Given the description of an element on the screen output the (x, y) to click on. 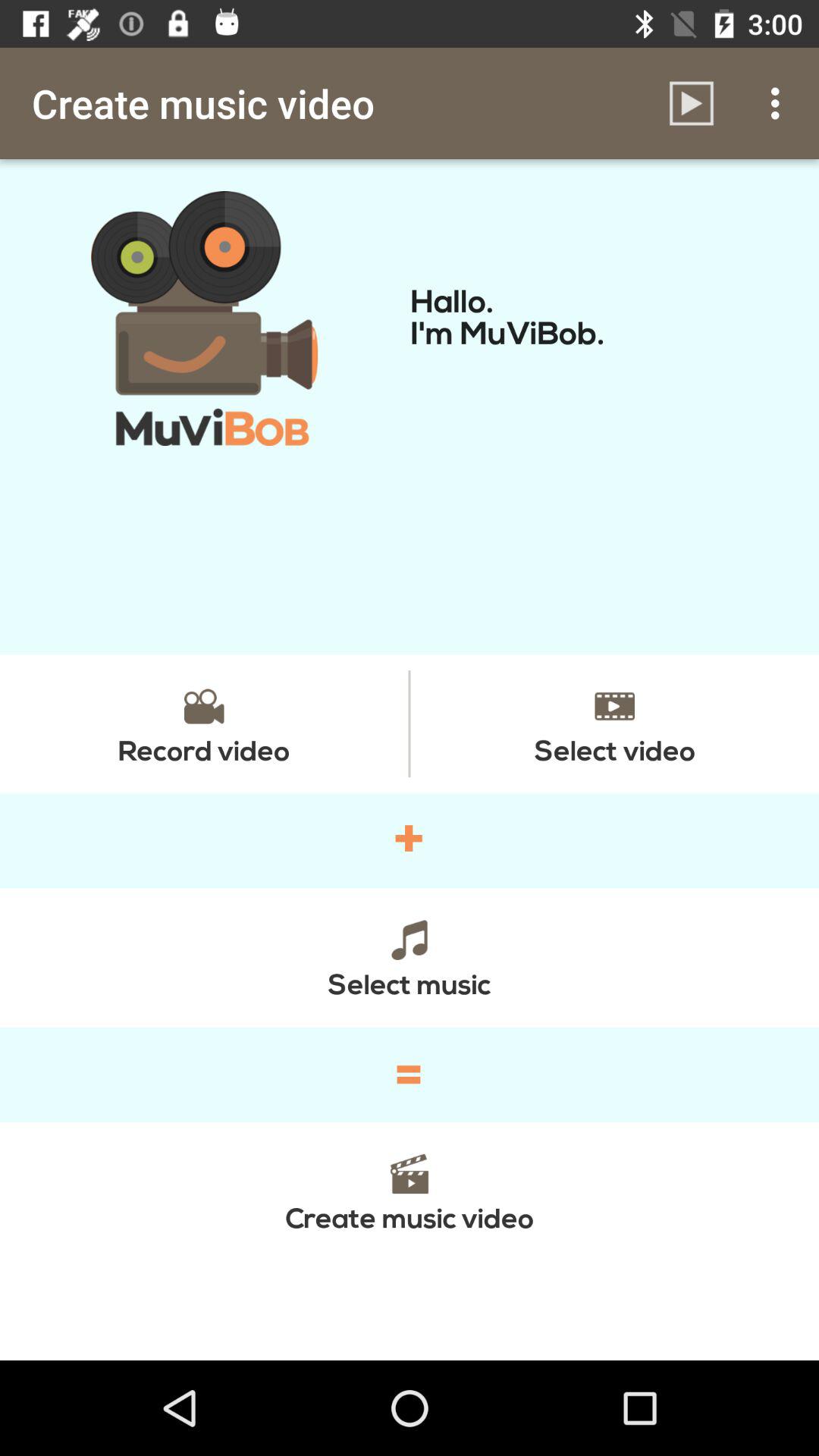
press the item to the left of select video (204, 723)
